Given the description of an element on the screen output the (x, y) to click on. 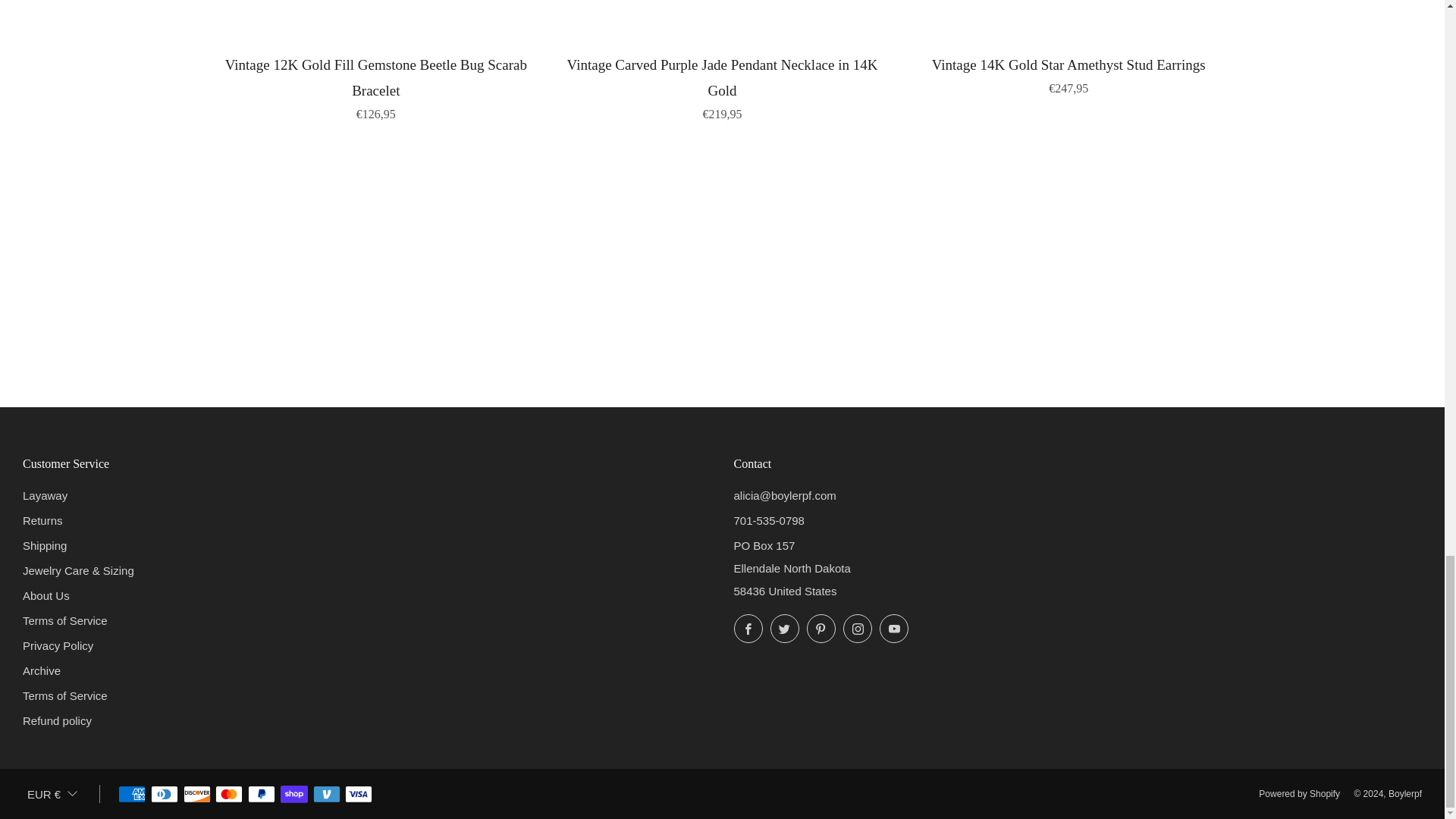
Vintage 12K Gold Fill Gemstone Beetle Bug Scarab Bracelet (376, 86)
Vintage 14K Gold Star Amethyst Stud Earrings (1068, 73)
Vintage Carved Purple Jade Pendant Necklace in 14K Gold (721, 86)
